Given the description of an element on the screen output the (x, y) to click on. 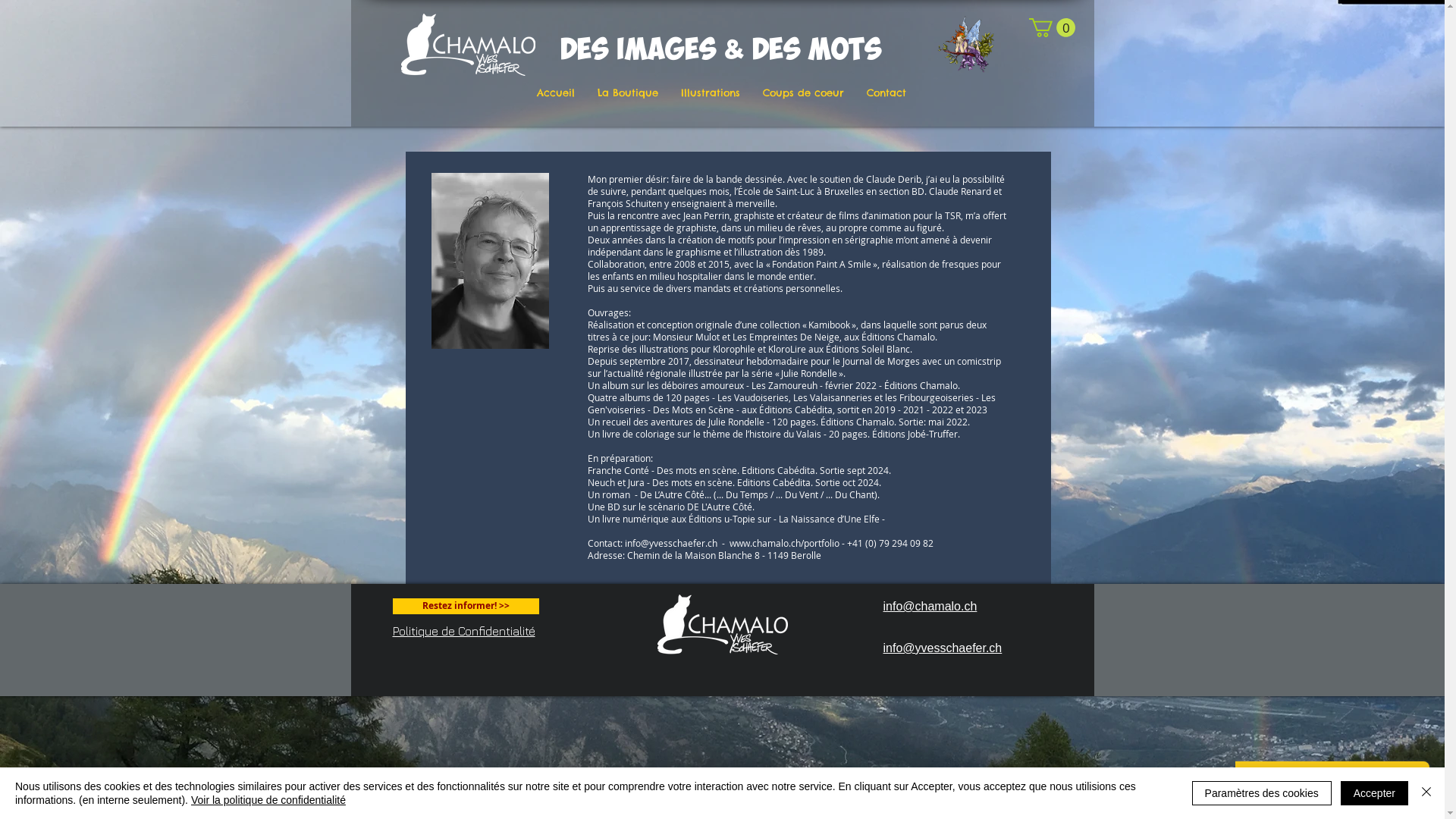
Contact Element type: text (886, 92)
info@chamalo.ch Element type: text (929, 605)
TWIPLA (Visitor Analytics) Element type: hover (1442, 4)
Accueil Element type: text (554, 92)
Accepter Element type: text (1374, 793)
Restez informer! >> Element type: text (465, 606)
info@yvesschaefer.ch Element type: text (941, 647)
0 Element type: text (1051, 27)
